Given the description of an element on the screen output the (x, y) to click on. 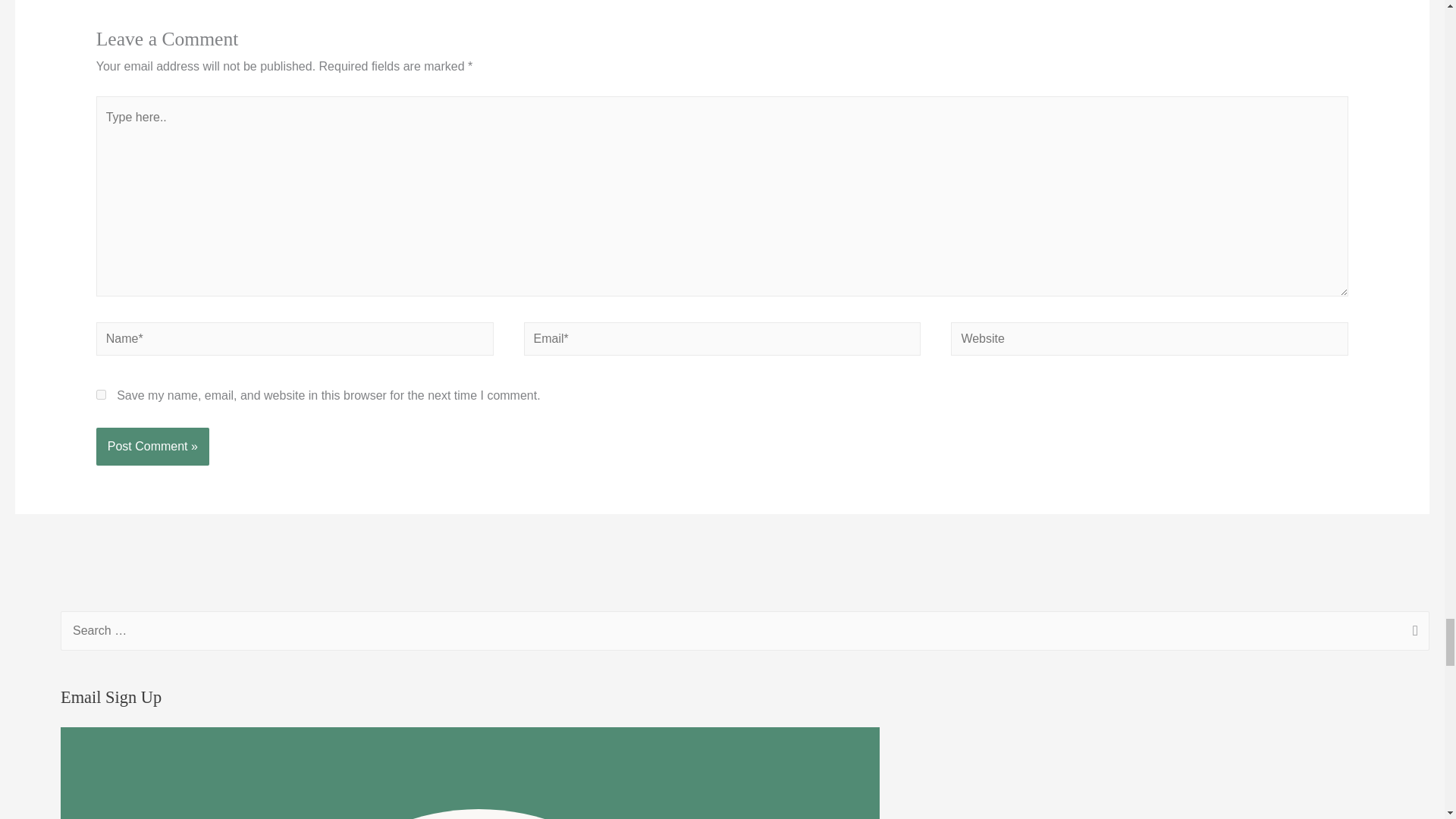
Email Sign Up (470, 773)
Search (1411, 631)
Search (1411, 631)
yes (101, 394)
